Given the description of an element on the screen output the (x, y) to click on. 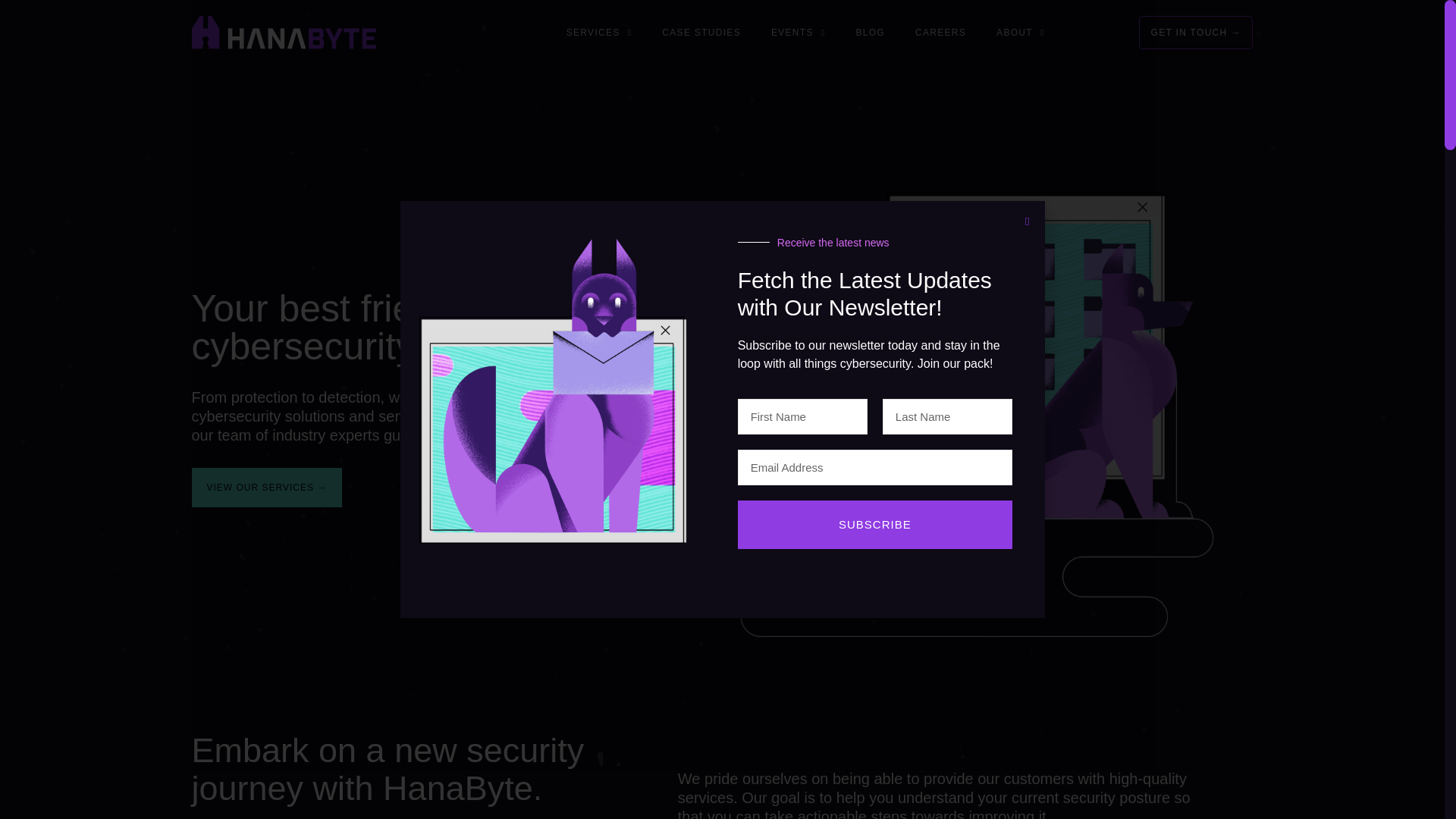
BLOG (869, 32)
ABOUT (1020, 32)
CASE STUDIES (700, 32)
EVENTS (798, 32)
SERVICES (599, 32)
CAREERS (940, 32)
